Given the description of an element on the screen output the (x, y) to click on. 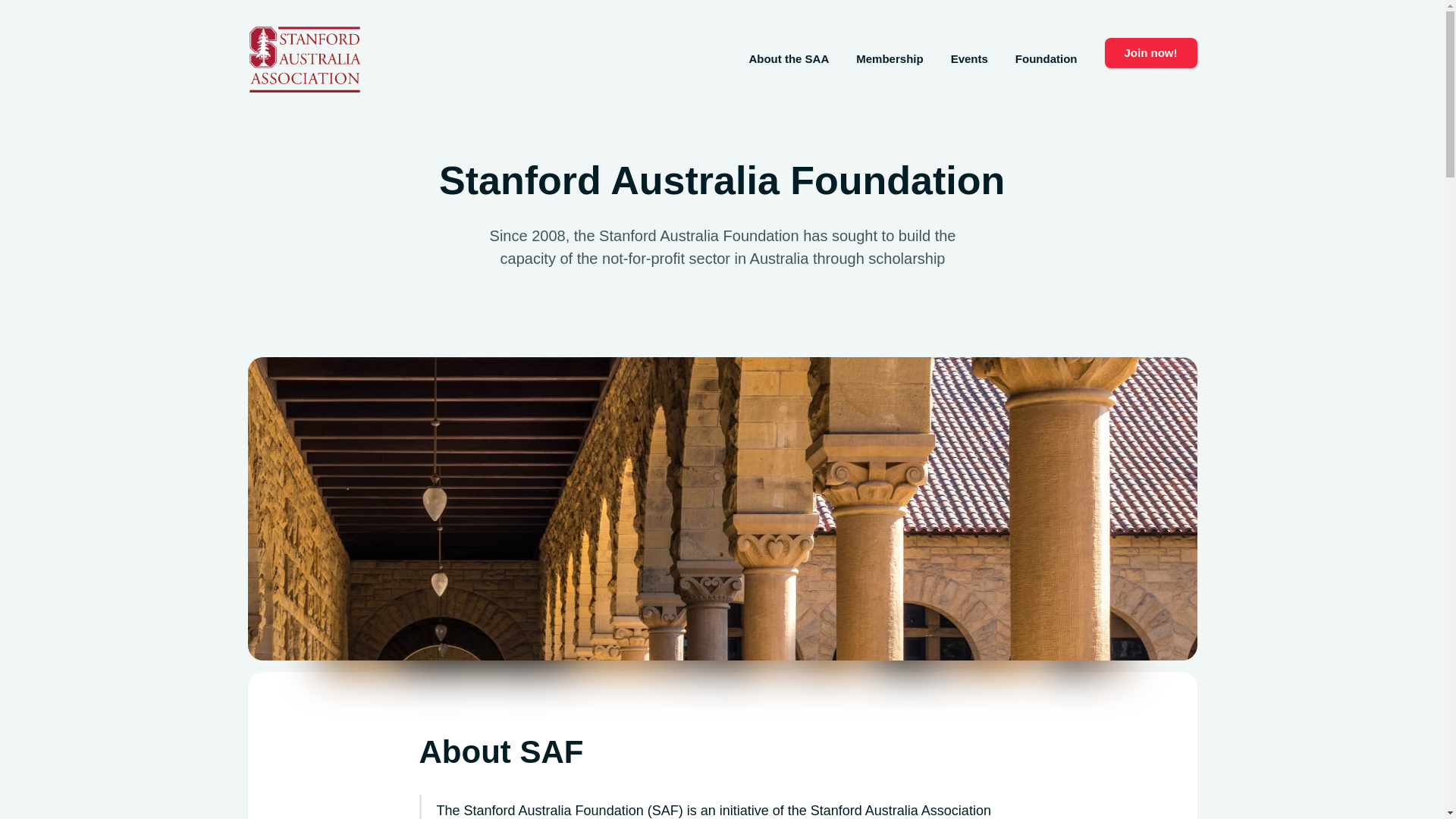
Join now! Element type: text (1150, 52)
Membership Element type: text (889, 58)
About the SAA Element type: text (788, 58)
Foundation Element type: text (1046, 58)
Events Element type: text (969, 58)
